Given the description of an element on the screen output the (x, y) to click on. 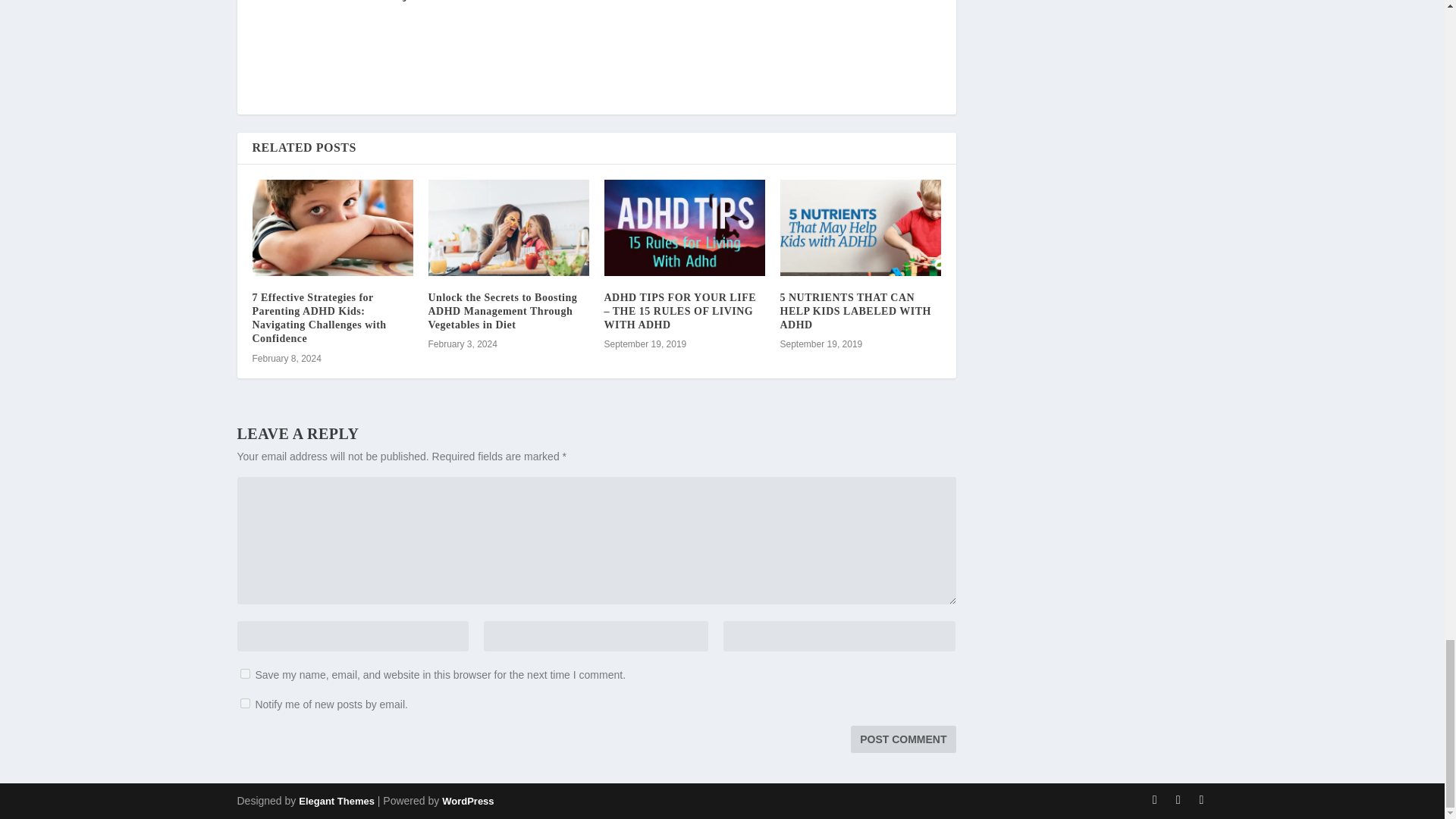
yes (244, 673)
subscribe (244, 703)
Post Comment (902, 738)
